Given the description of an element on the screen output the (x, y) to click on. 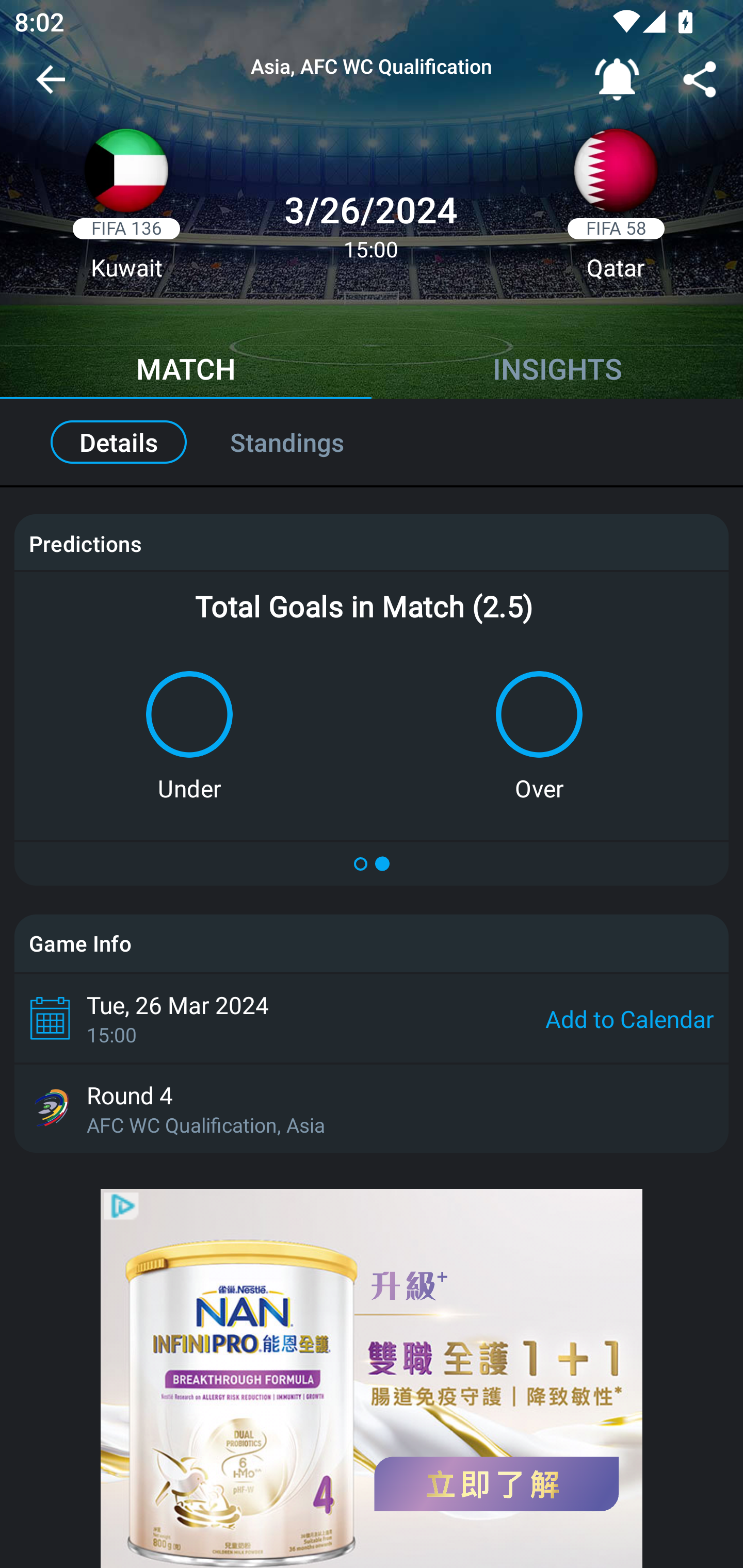
Navigate up (50, 86)
Asia, AFC WC Qualification (371, 66)
Share (699, 82)
FIFA 136 Kuwait (126, 210)
FIFA 58 Qatar (616, 210)
MATCH (185, 371)
INSIGHTS (557, 371)
Standings (308, 442)
Predictions (85, 544)
Game Info (371, 943)
Tue, 26 Mar 2024 15:00 Add to Calendar (371, 1018)
Round 4 AFC WC Qualification, Asia (371, 1108)
